Given the description of an element on the screen output the (x, y) to click on. 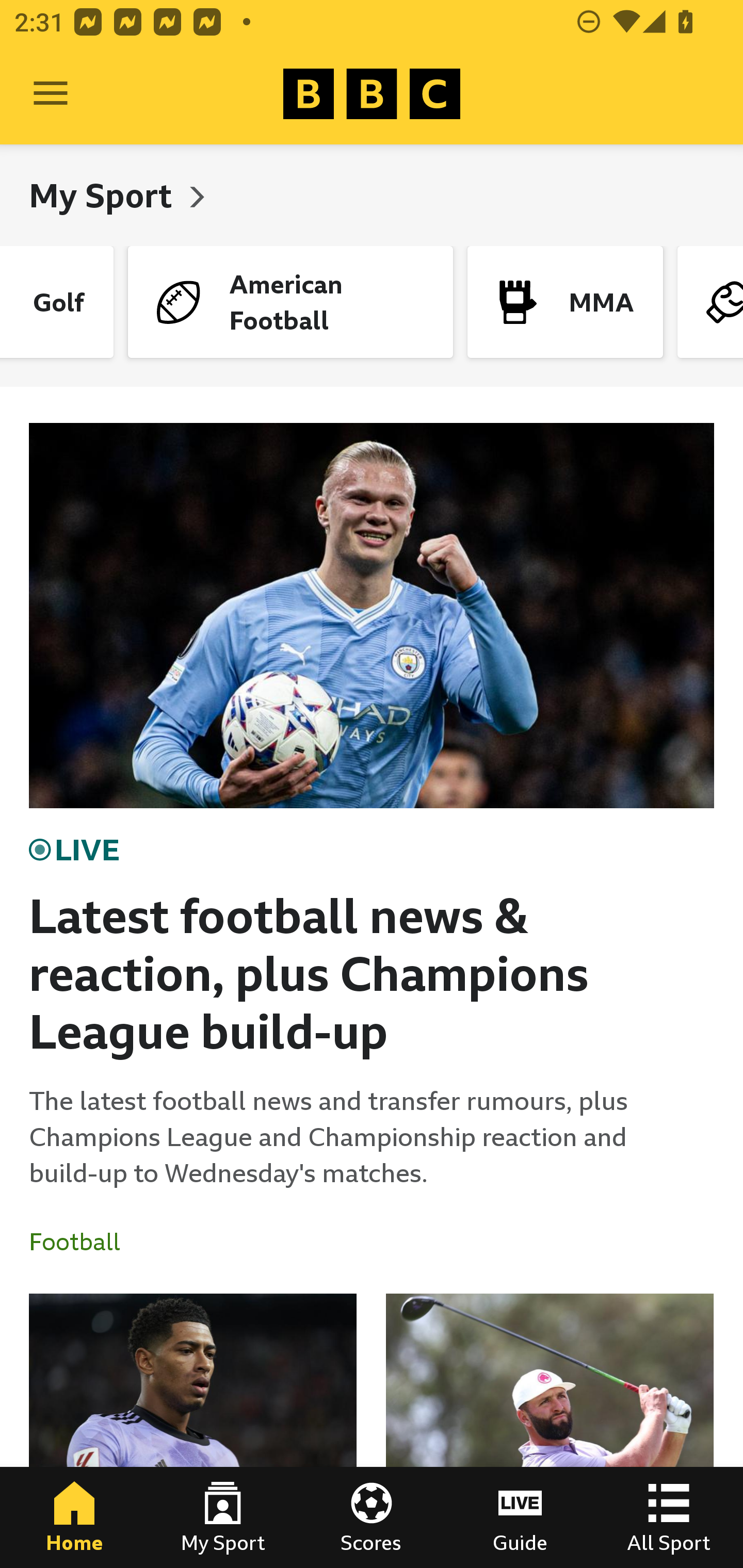
Open Menu (50, 93)
My Sport (104, 195)
Football In the section Football (81, 1241)
Real midfielder Bellingham banned for two games (192, 1430)
My Sport (222, 1517)
Scores (371, 1517)
Guide (519, 1517)
All Sport (668, 1517)
